Given the description of an element on the screen output the (x, y) to click on. 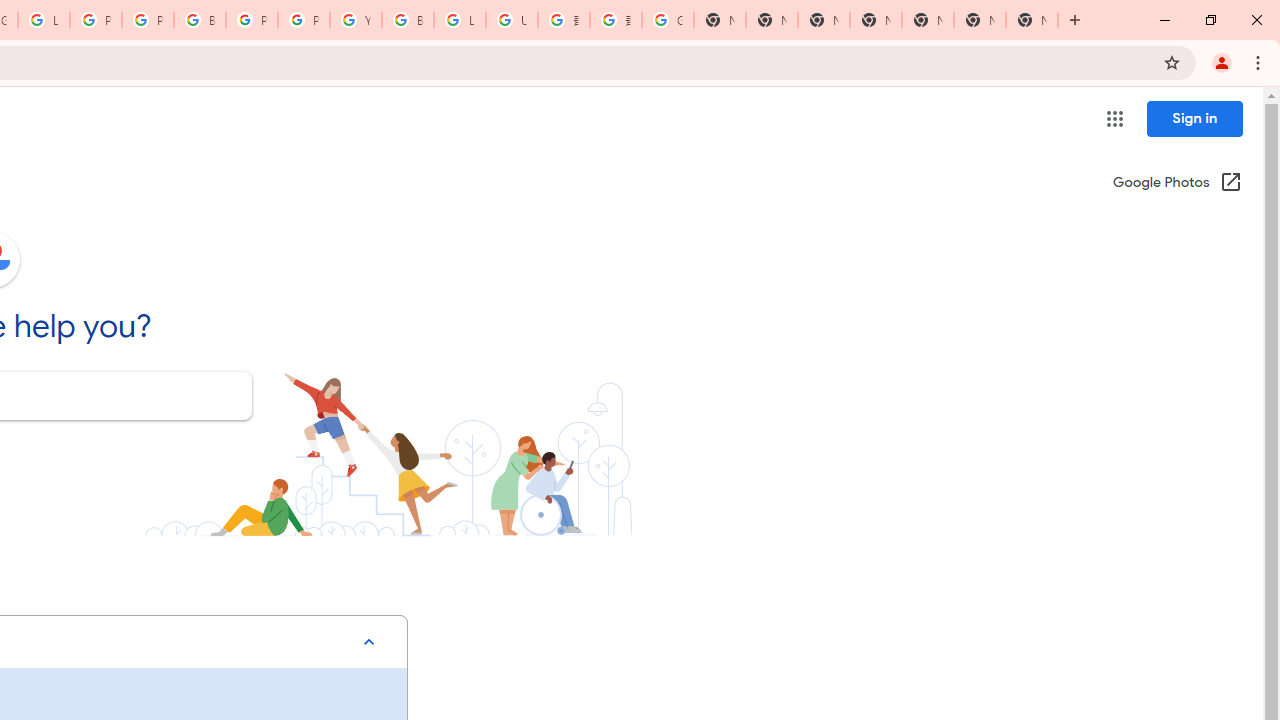
Privacy Help Center - Policies Help (95, 20)
Google Photos (Open in a new window) (1177, 183)
Privacy Help Center - Policies Help (147, 20)
